Given the description of an element on the screen output the (x, y) to click on. 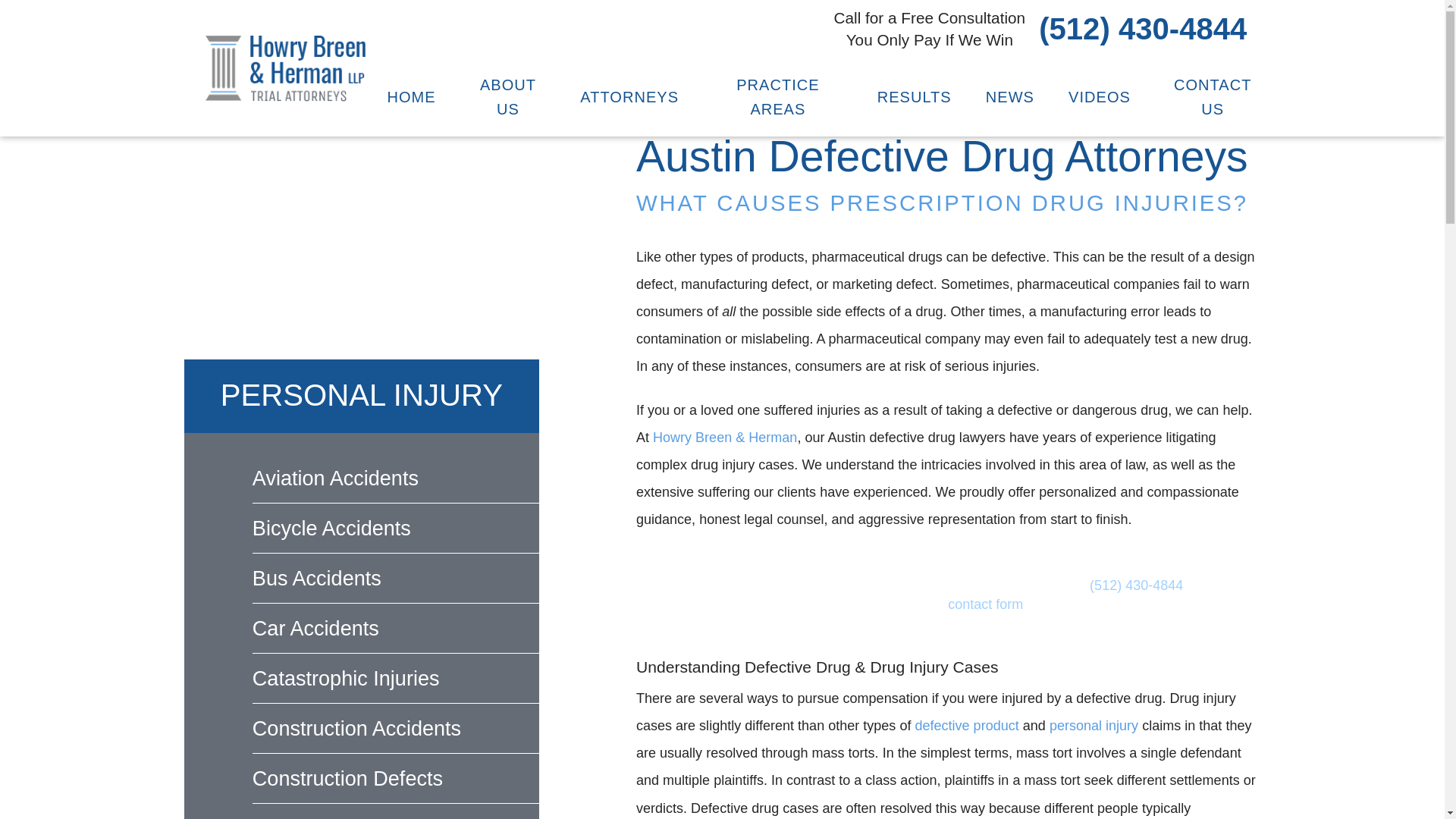
Drug Injuries (361, 272)
CONTACT US (1212, 96)
ATTORNEYS (628, 96)
PRACTICE AREAS (778, 96)
defective product (965, 725)
contact form (985, 604)
personal injury (1093, 725)
Open the accessibility options menu (88, 18)
ABOUT US (508, 96)
RESULTS (914, 96)
